Given the description of an element on the screen output the (x, y) to click on. 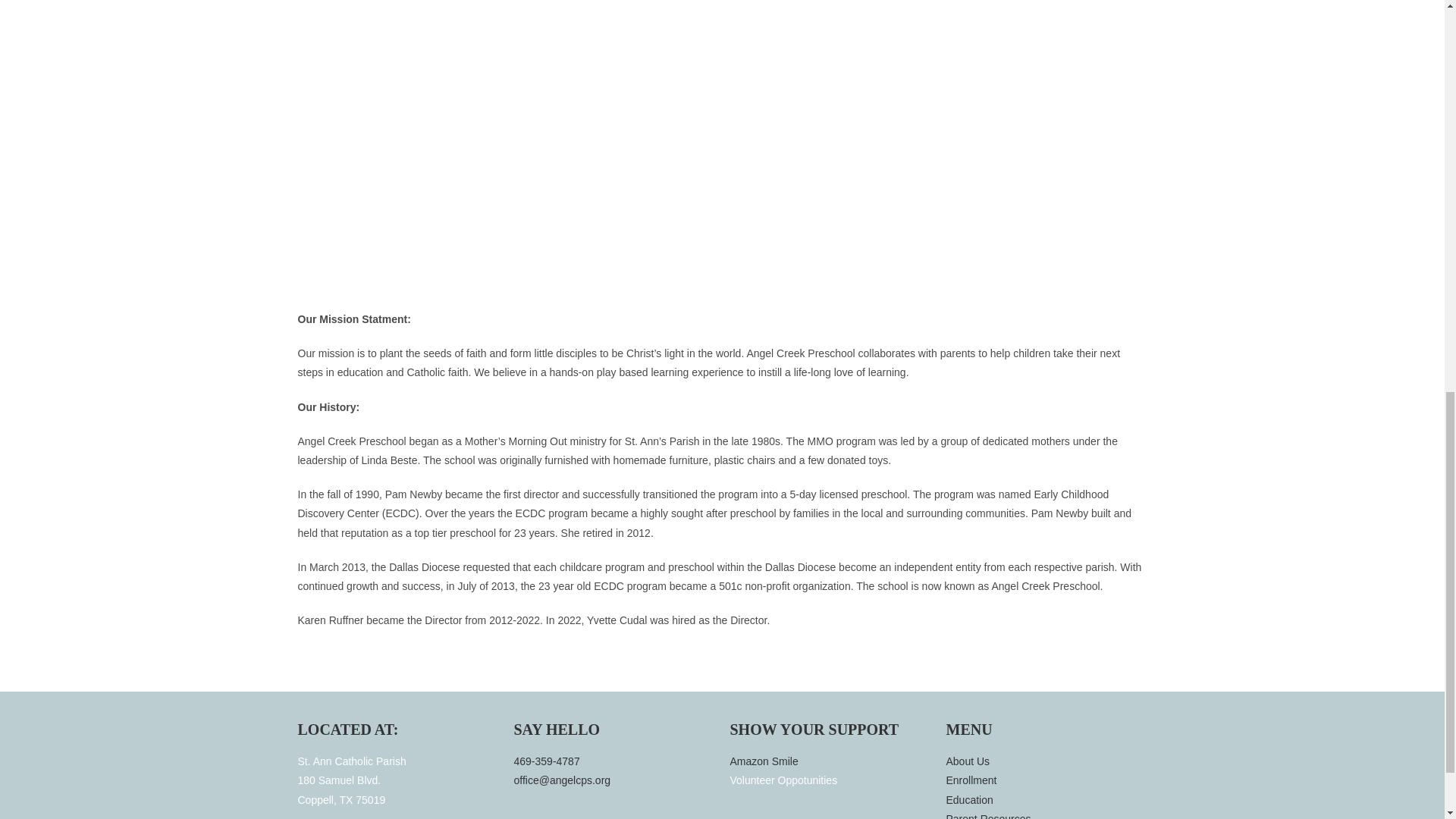
Parent Resources (1046, 814)
469-359-4787 (613, 761)
Education (1046, 800)
Enrollment (397, 796)
About Us (1046, 780)
Amazon Smile (1046, 761)
St. Ann Catholic Parish (829, 761)
